Given the description of an element on the screen output the (x, y) to click on. 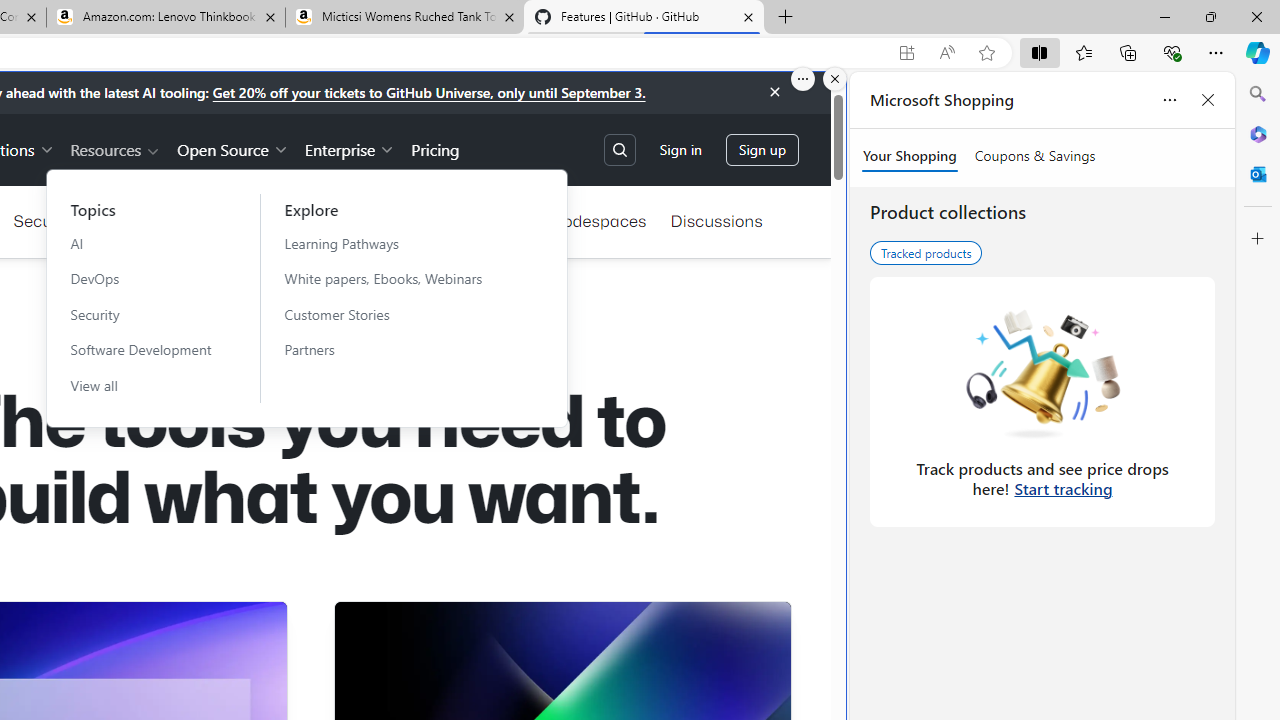
AI (141, 243)
More options. (803, 79)
Customer Stories (395, 313)
Software Development (141, 349)
Enterprise (349, 148)
White papers, Ebooks, Webinars (395, 278)
Learning Pathways (395, 243)
DevOps (141, 278)
